Given the description of an element on the screen output the (x, y) to click on. 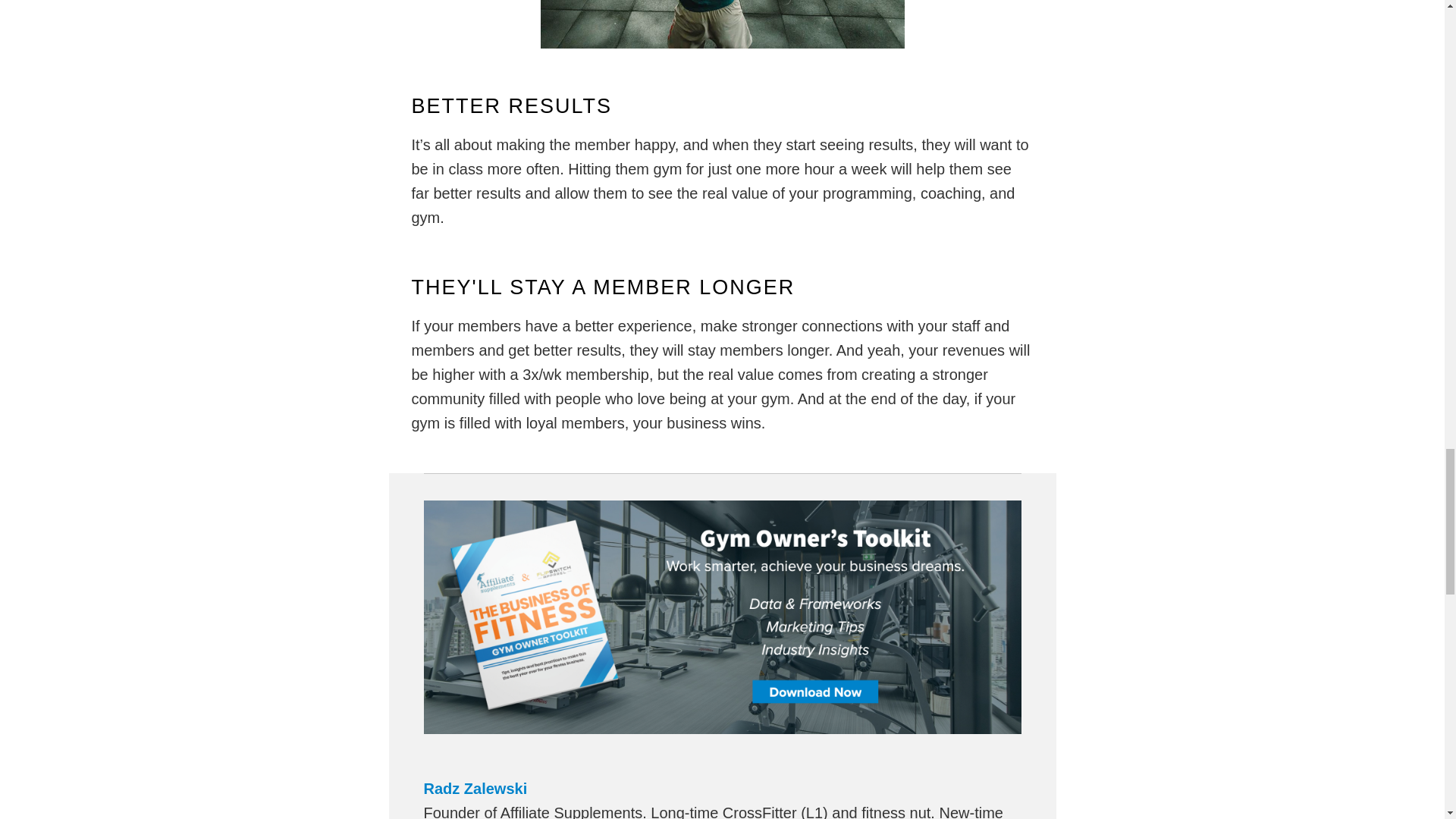
fitness business (721, 728)
